Given the description of an element on the screen output the (x, y) to click on. 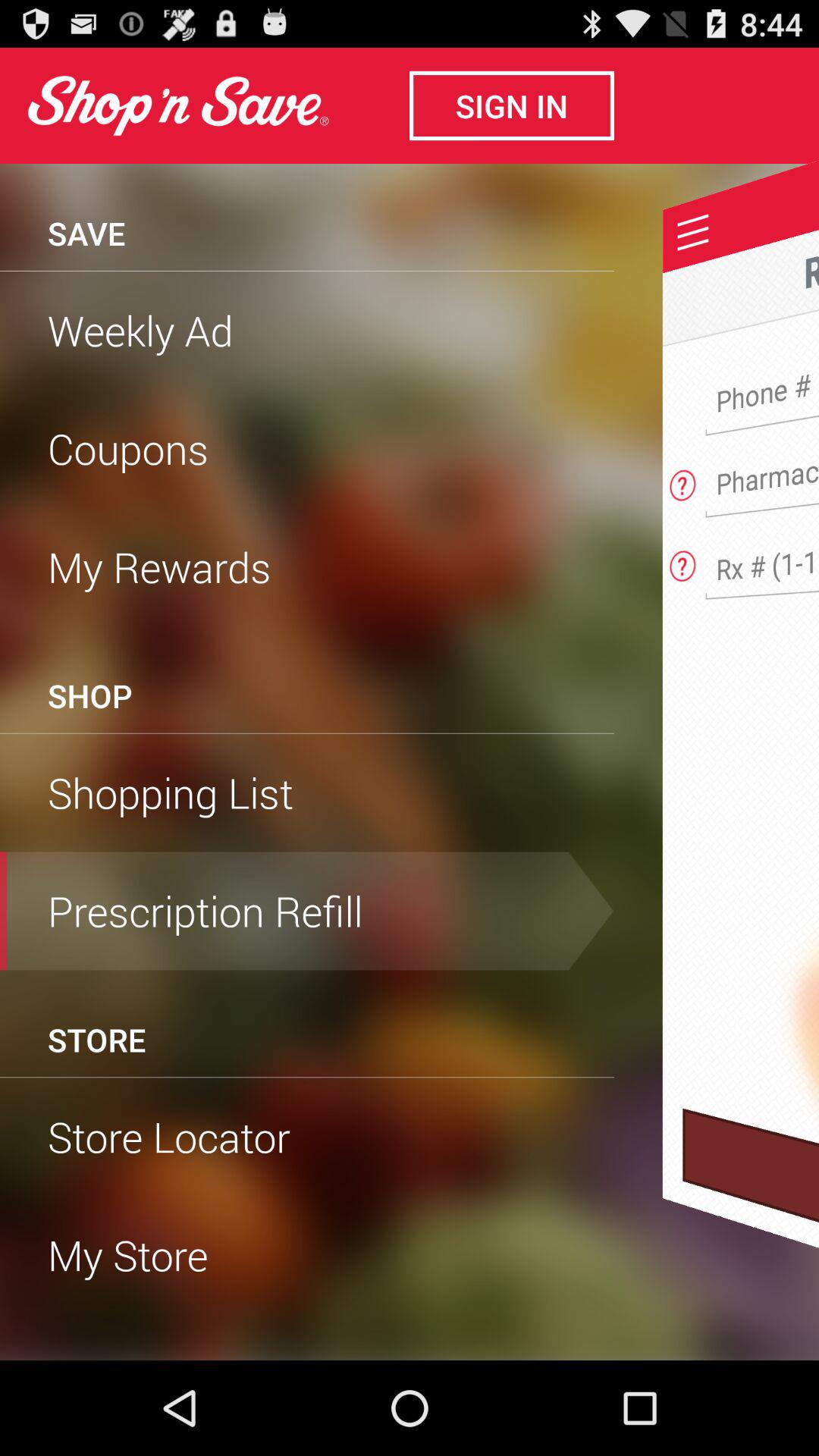
press button to the left of sign in icon (177, 105)
